Given the description of an element on the screen output the (x, y) to click on. 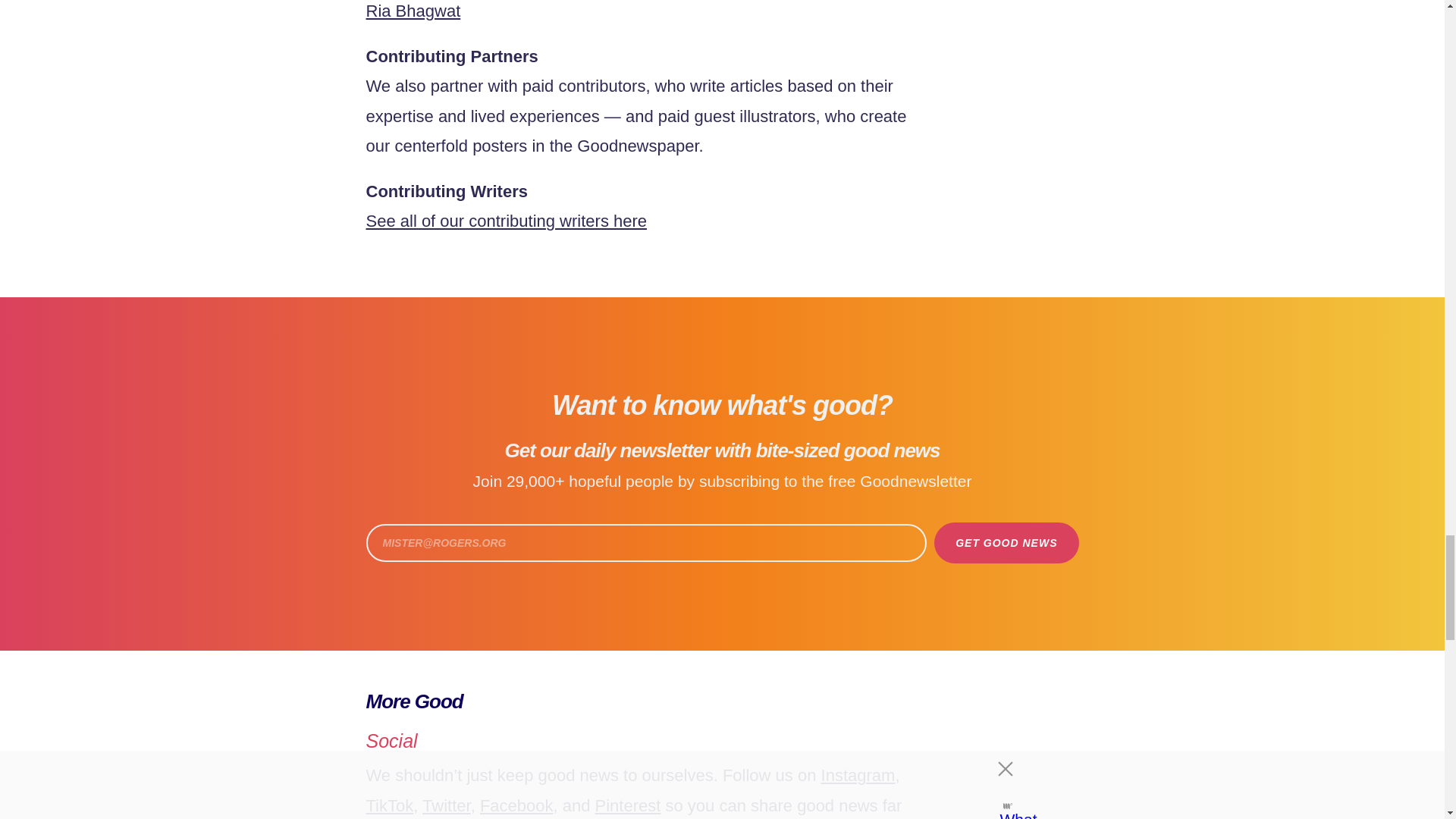
Get Good News (1006, 542)
